Given the description of an element on the screen output the (x, y) to click on. 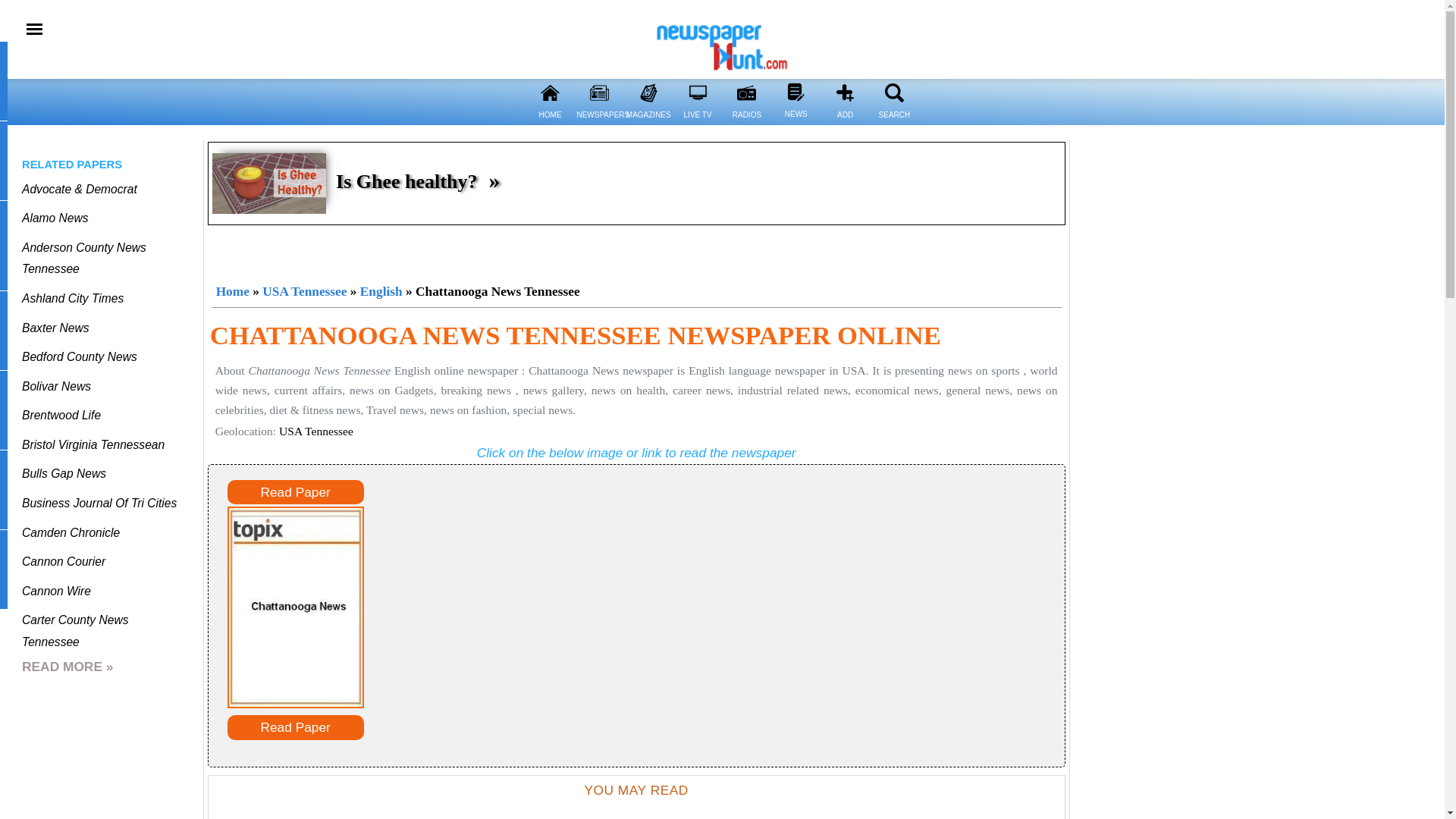
ADD LISTING (3, 569)
SEARCH (893, 124)
MAGAZINES (3, 331)
Bolivar News (55, 386)
Chattanooga News Tennessee live news (295, 607)
3rd party ad content (636, 249)
MAGAZINES (648, 124)
LIVE TV (3, 251)
RADIOS (746, 124)
English Newspapers in usa-tennessee (381, 291)
Business Journal Of Tri Cities (98, 502)
ADD (844, 124)
MAGAZINE (648, 92)
HOME (549, 92)
Bedford County News (78, 356)
